Given the description of an element on the screen output the (x, y) to click on. 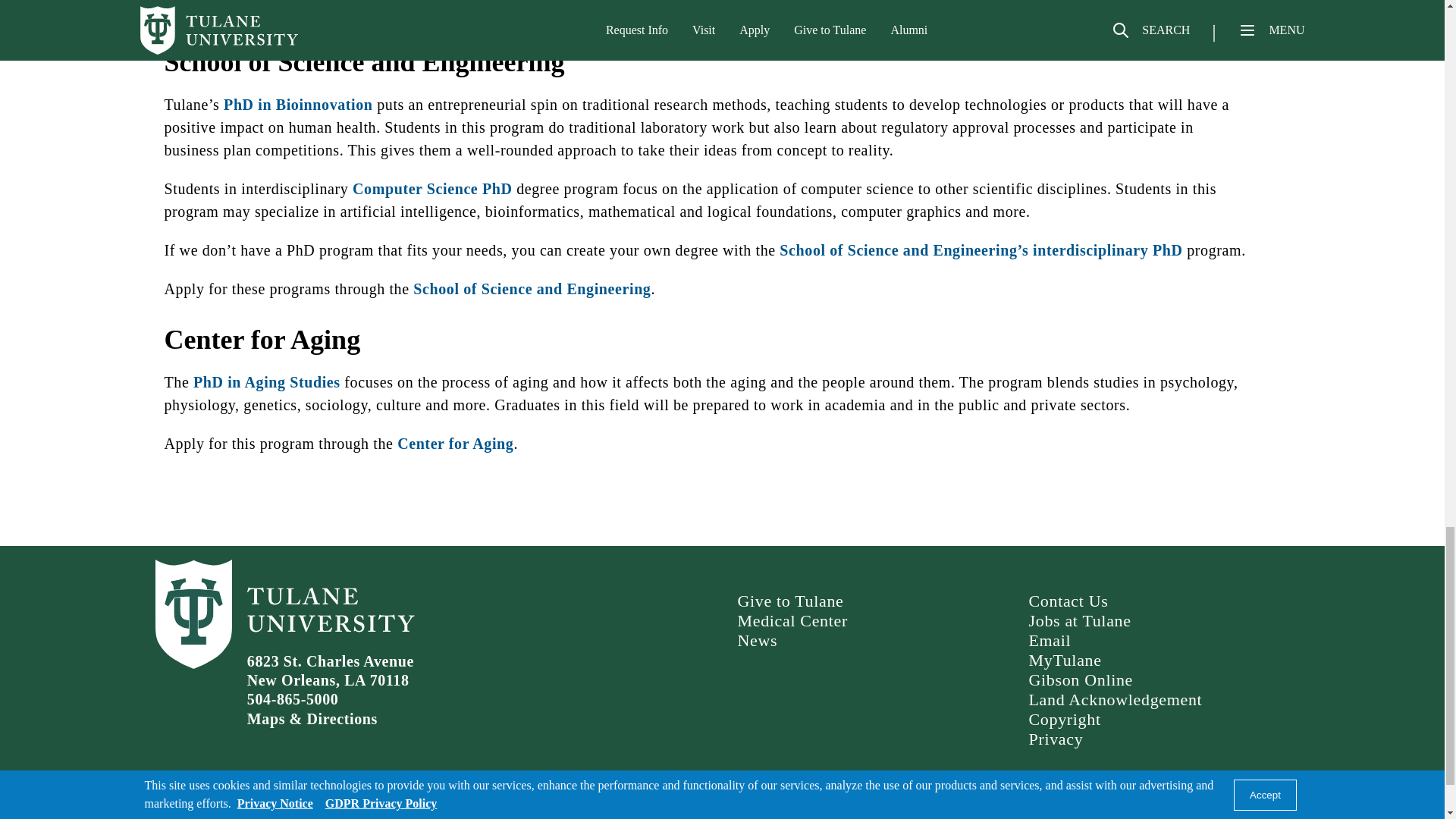
Home (189, 816)
